Given the description of an element on the screen output the (x, y) to click on. 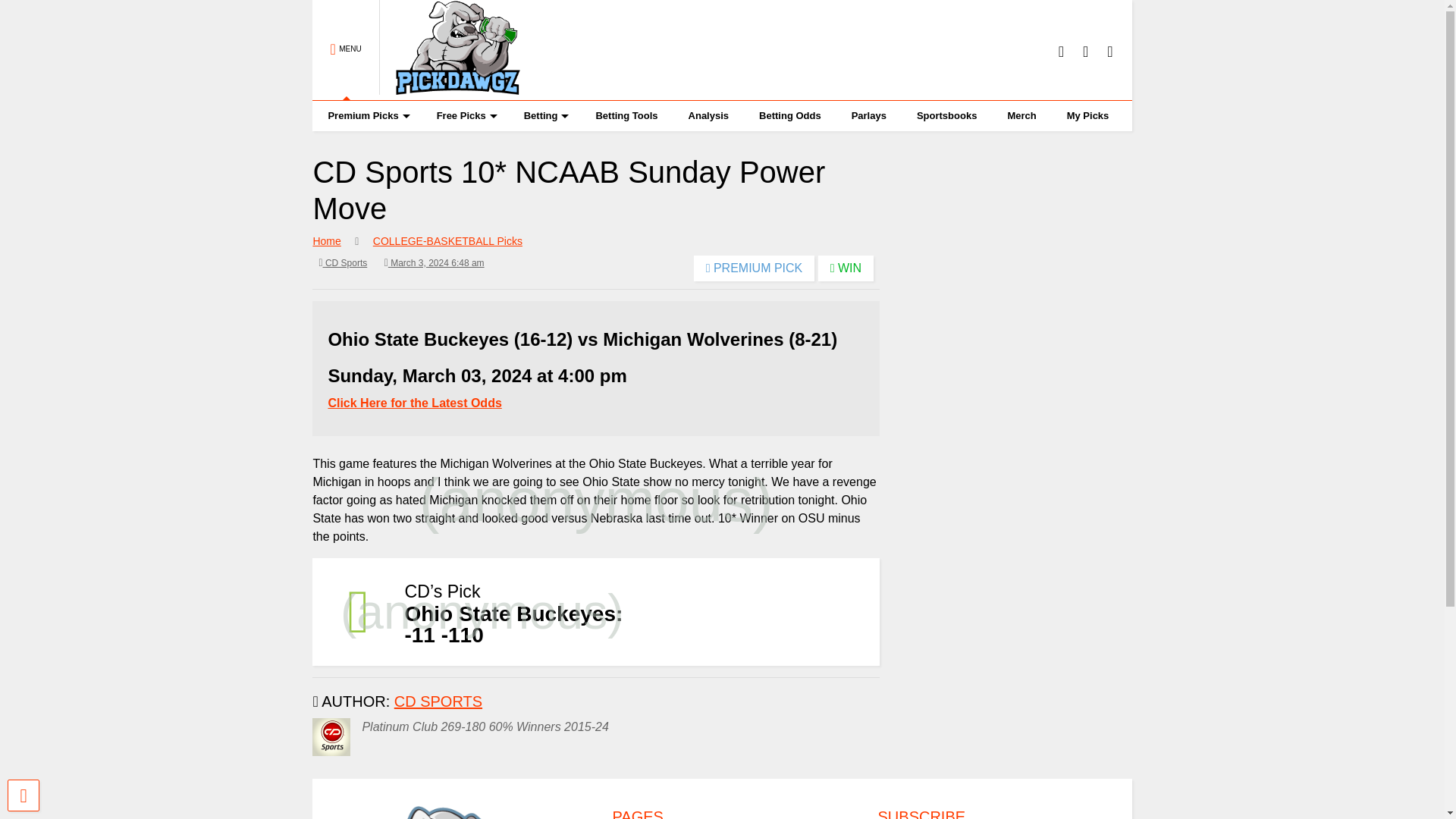
Premium Picks (366, 115)
PickDawgz (449, 87)
Free Picks (465, 115)
Analysis (708, 115)
MENU (345, 49)
2024-03-03T06:48:45-0500 (434, 263)
author profile (437, 701)
Betting Tools (625, 115)
Betting (544, 115)
CD Sports (342, 263)
